Given the description of an element on the screen output the (x, y) to click on. 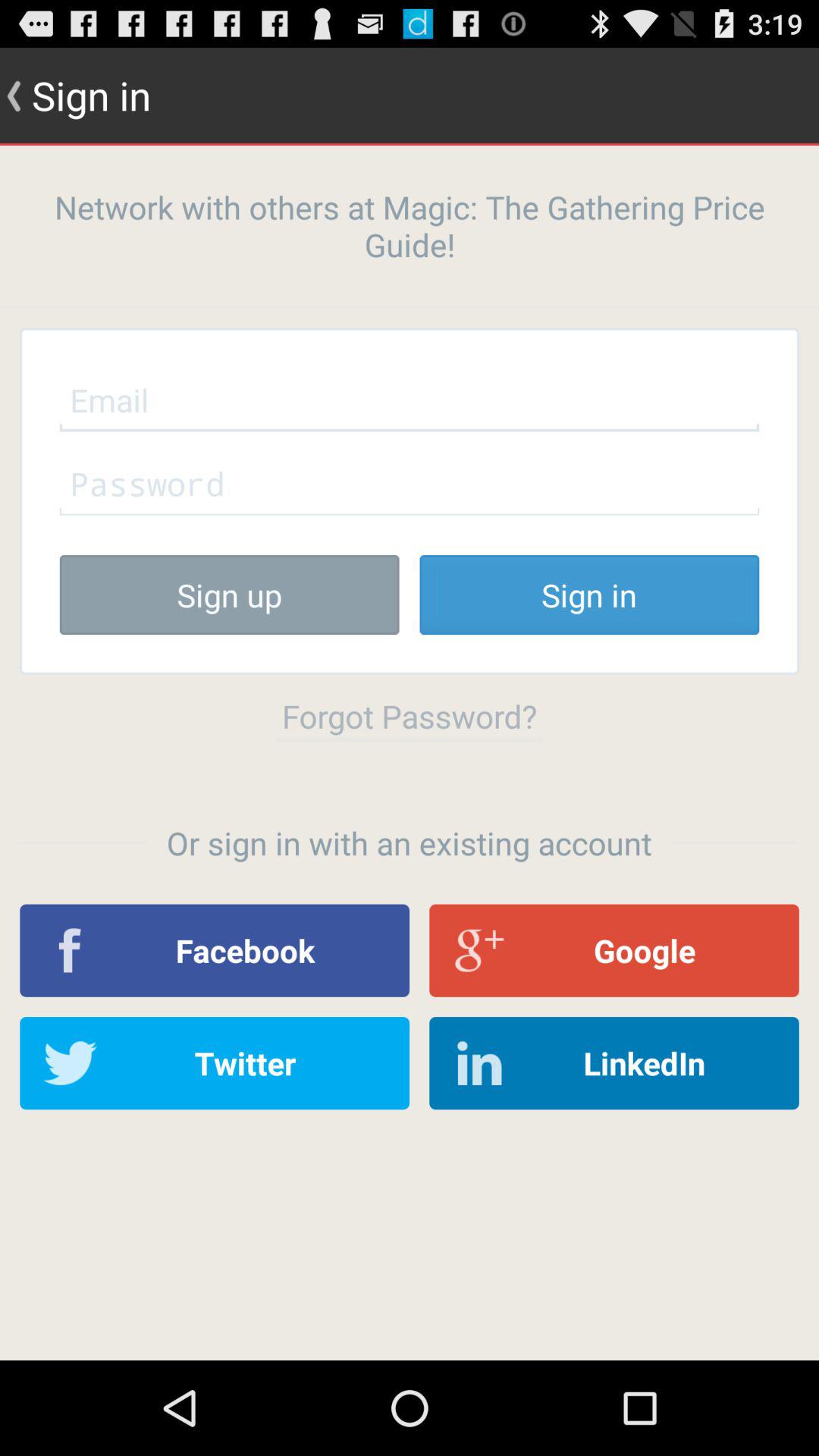
open facebook (214, 950)
